Given the description of an element on the screen output the (x, y) to click on. 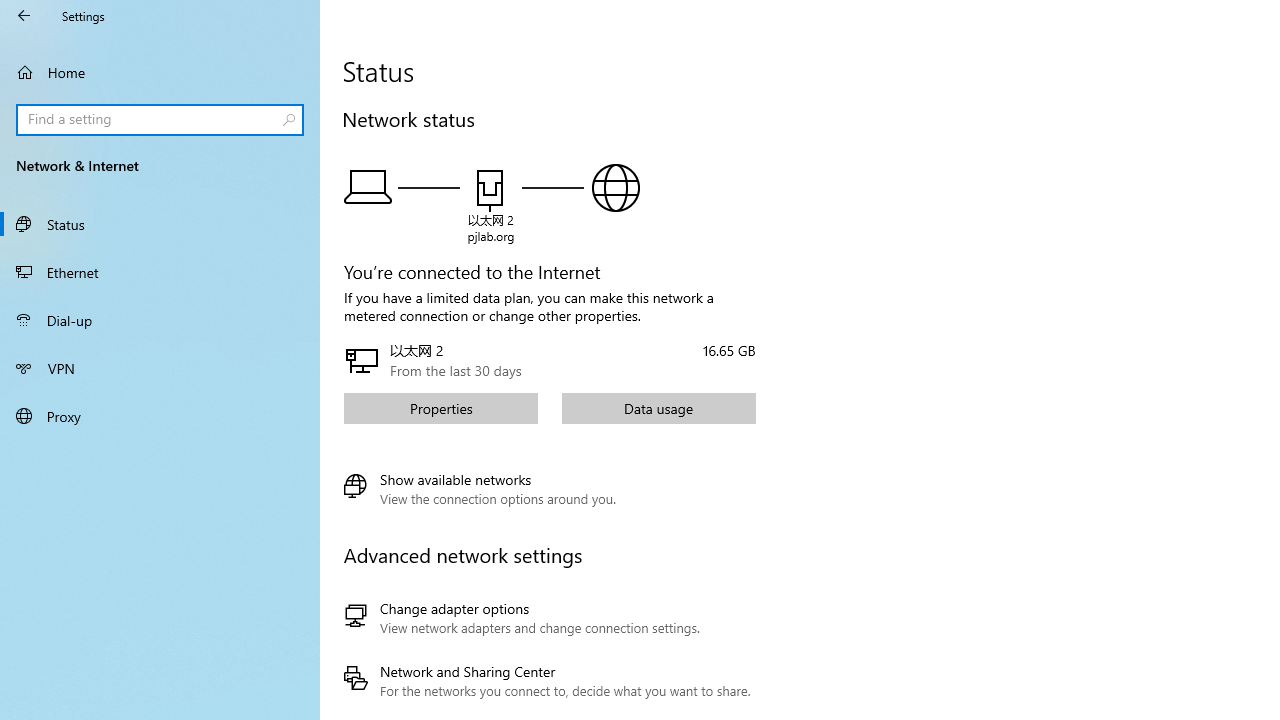
Proxy (160, 415)
Ethernet (160, 271)
Network and Sharing Center (546, 681)
Show available networks (479, 489)
Search box, Find a setting (160, 119)
VPN (160, 367)
Status (160, 223)
Change adapter options (546, 618)
Dial-up (160, 319)
